Given the description of an element on the screen output the (x, y) to click on. 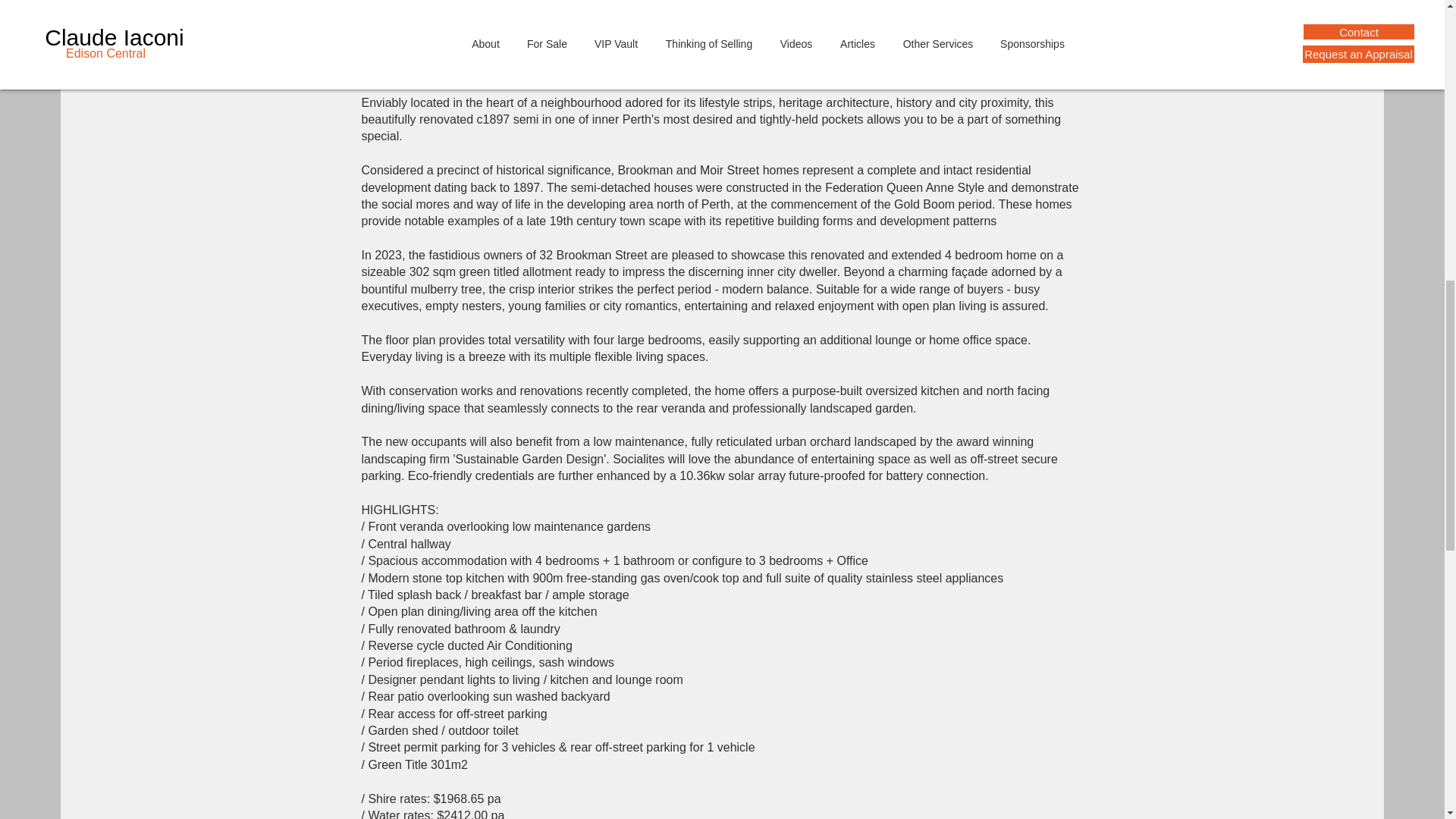
Download Brochure (1013, 4)
Floorplan (880, 4)
